Given the description of an element on the screen output the (x, y) to click on. 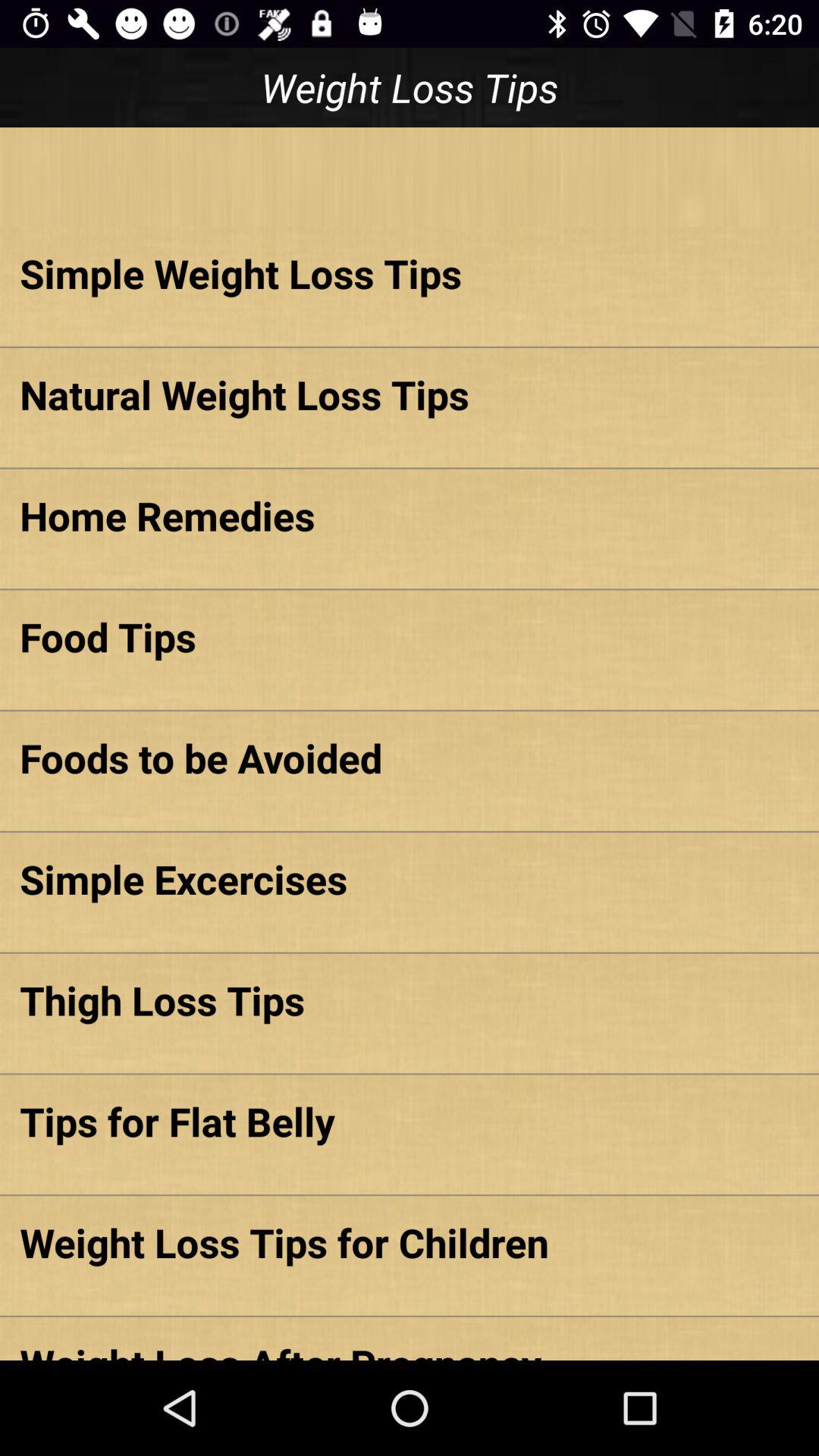
swipe to the simple excercises item (409, 878)
